Given the description of an element on the screen output the (x, y) to click on. 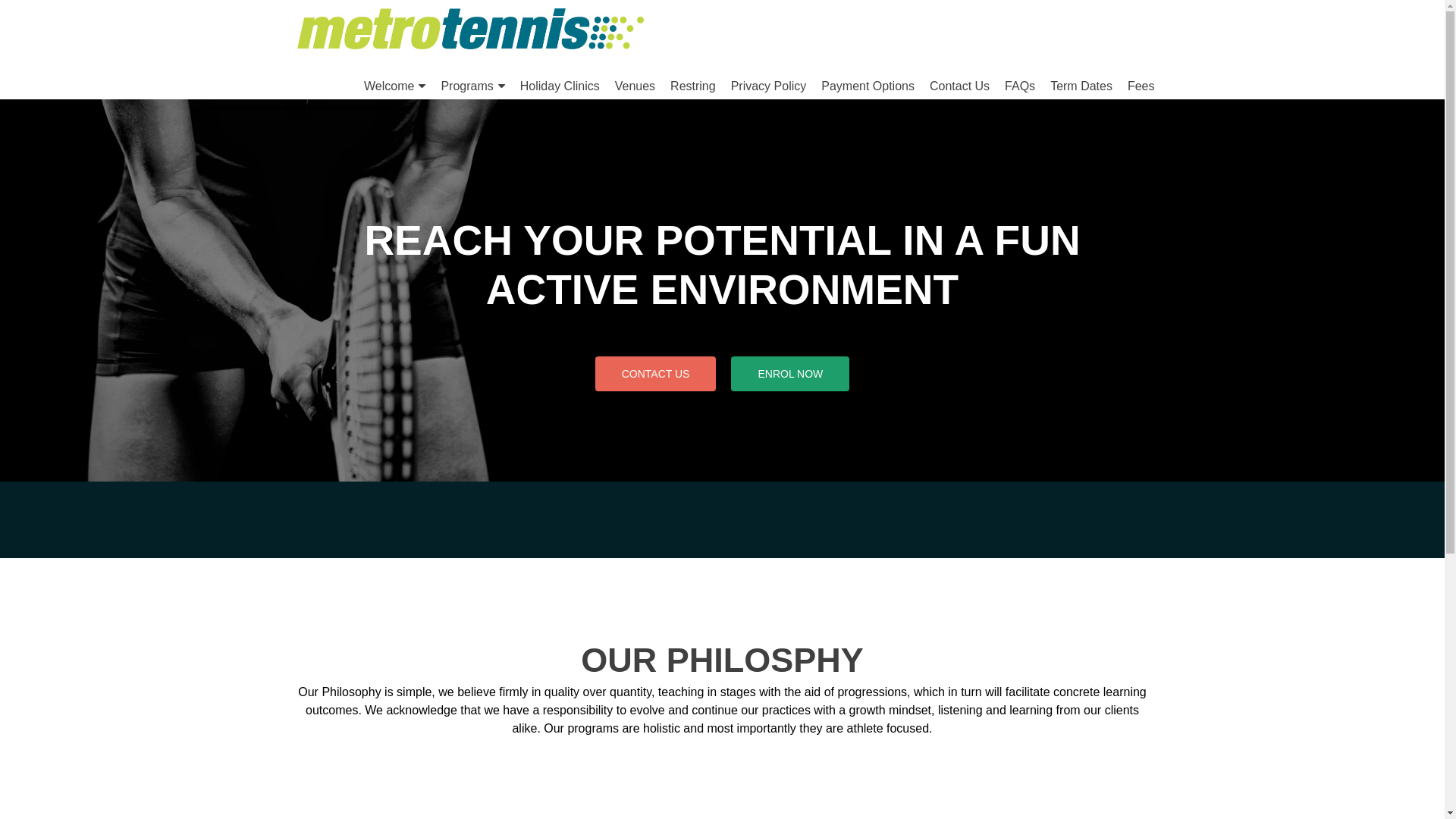
ENROL NOW Element type: text (790, 373)
Venues Element type: text (635, 85)
Term Dates Element type: text (1081, 85)
Fees Element type: text (1140, 85)
FAQs Element type: text (1019, 85)
Payment Options Element type: text (867, 85)
Welcome Element type: text (394, 85)
Restring Element type: text (692, 85)
Privacy Policy Element type: text (768, 85)
Programs Element type: text (472, 85)
Skip to content Element type: text (363, 56)
Contact Us Element type: text (959, 85)
CONTACT US Element type: text (655, 373)
Holiday Clinics Element type: text (559, 85)
